Given the description of an element on the screen output the (x, y) to click on. 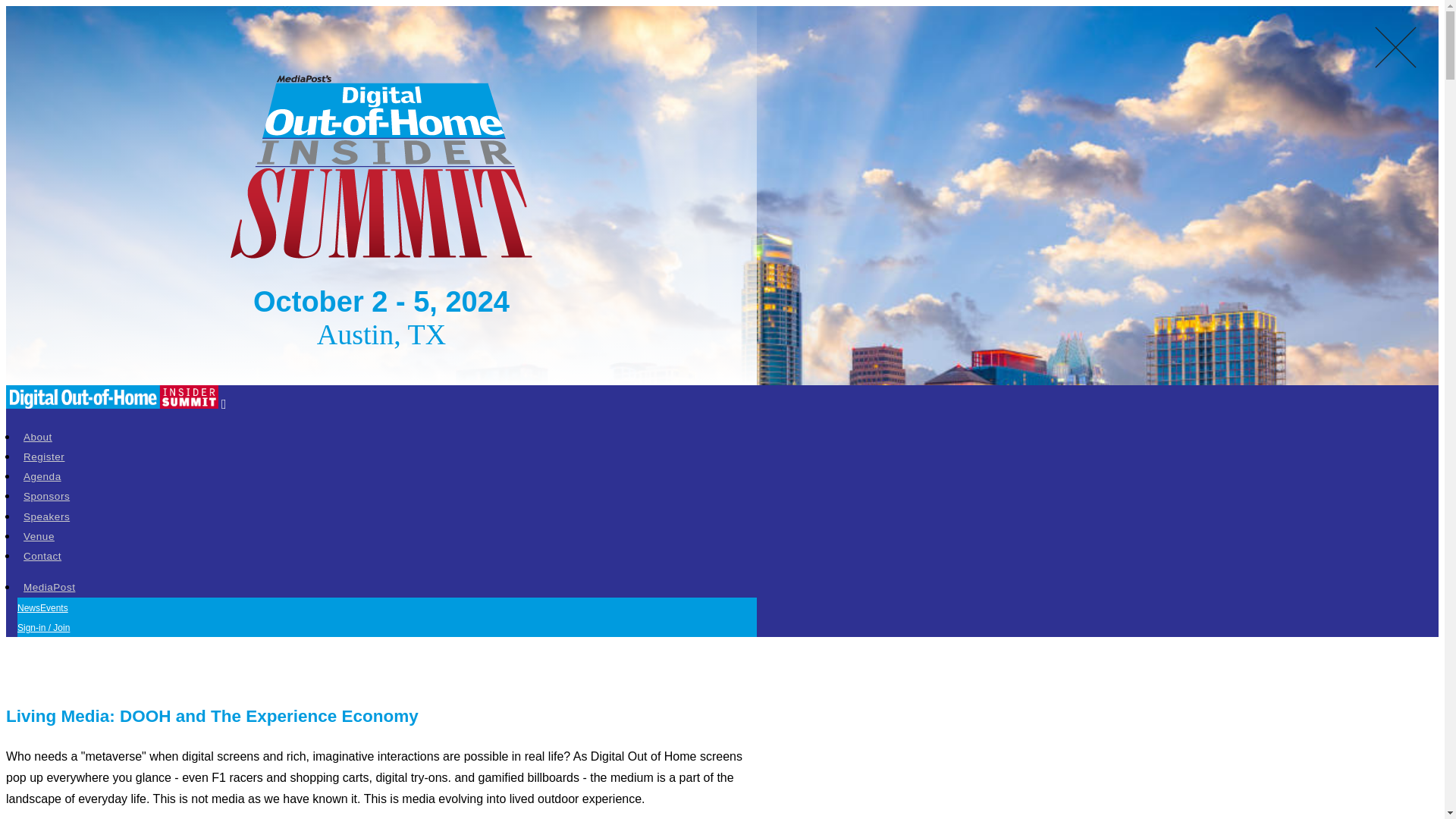
Contact (41, 555)
About (37, 437)
About (37, 437)
Agenda (41, 476)
Agenda (41, 476)
Sponsors (46, 496)
Register (43, 456)
Events (54, 607)
Venue (39, 536)
News (28, 607)
Speakers (46, 516)
Speakers (46, 516)
Contact (41, 555)
MediaPost (49, 586)
Venue (39, 536)
